Given the description of an element on the screen output the (x, y) to click on. 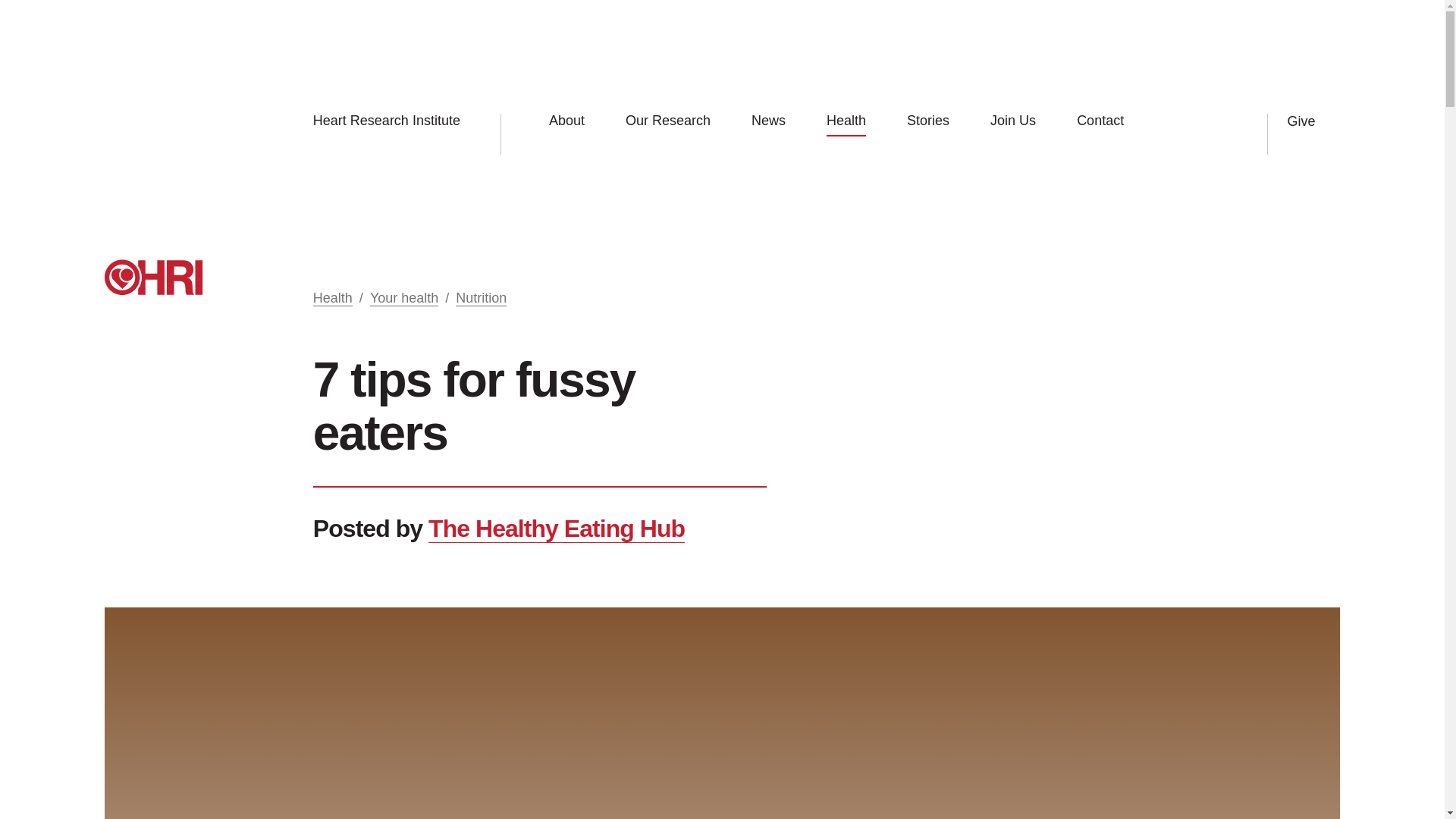
Your health (403, 298)
Heart Research Institute (396, 120)
Stories (927, 120)
About (566, 120)
Nutrition (480, 298)
Contact (1100, 120)
Our Research (667, 120)
Join Us (1013, 120)
The Healthy Eating Hub (556, 528)
News (768, 120)
